Given the description of an element on the screen output the (x, y) to click on. 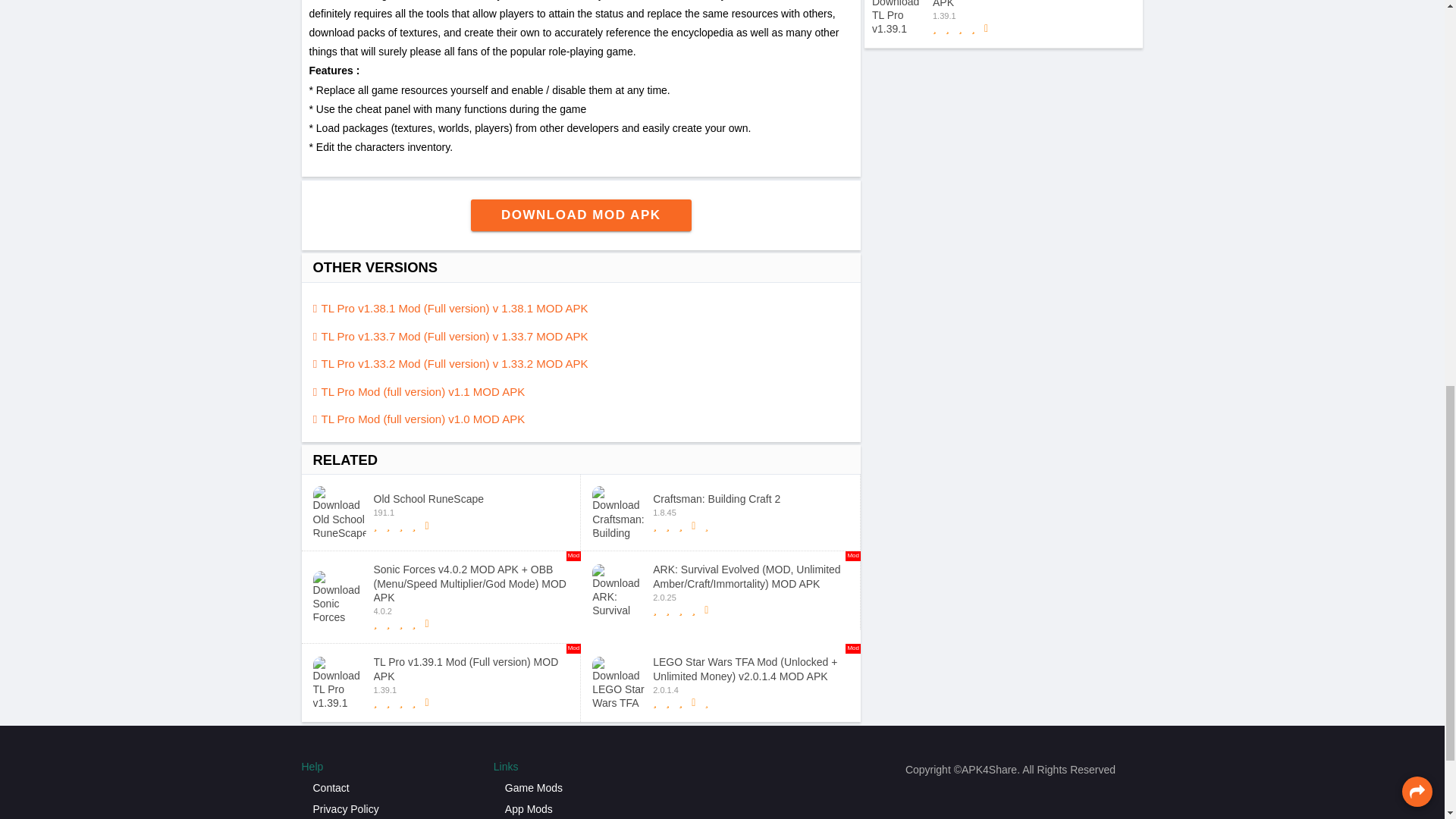
Download Craftsman: Building Craft 2 - Latest Version (440, 513)
DOWNLOAD MOD APK (720, 513)
Download Old School RuneScape - Latest Version (580, 214)
